Given the description of an element on the screen output the (x, y) to click on. 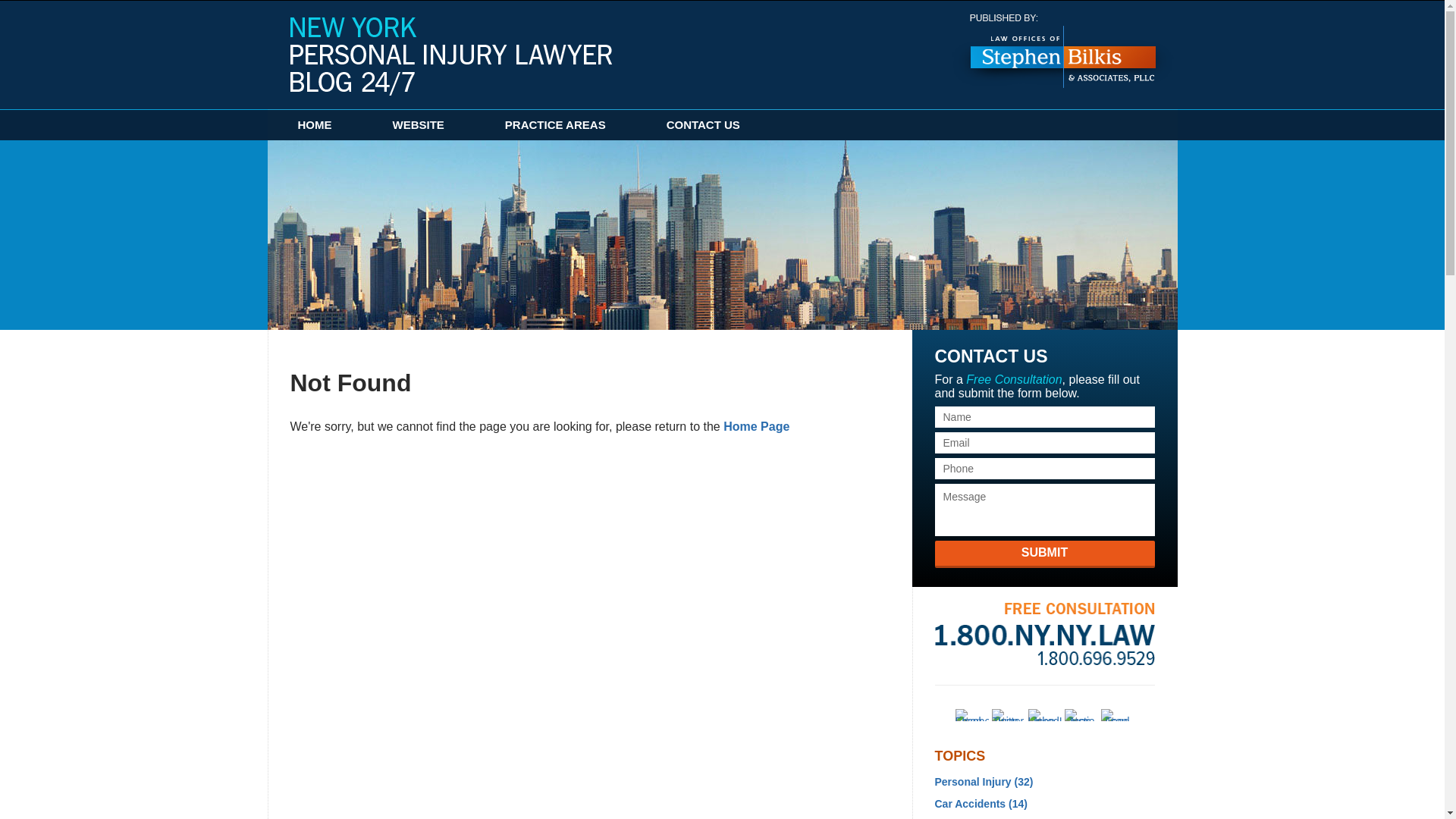
Facebook (971, 715)
WEBSITE (418, 124)
Justia (1080, 715)
Please enter a valid phone number. (1044, 468)
CONTACT US (703, 124)
PRACTICE AREAS (555, 124)
Twitter (1008, 715)
LinkedIn (1044, 715)
SUBMIT (1044, 554)
HOME (313, 124)
